Given the description of an element on the screen output the (x, y) to click on. 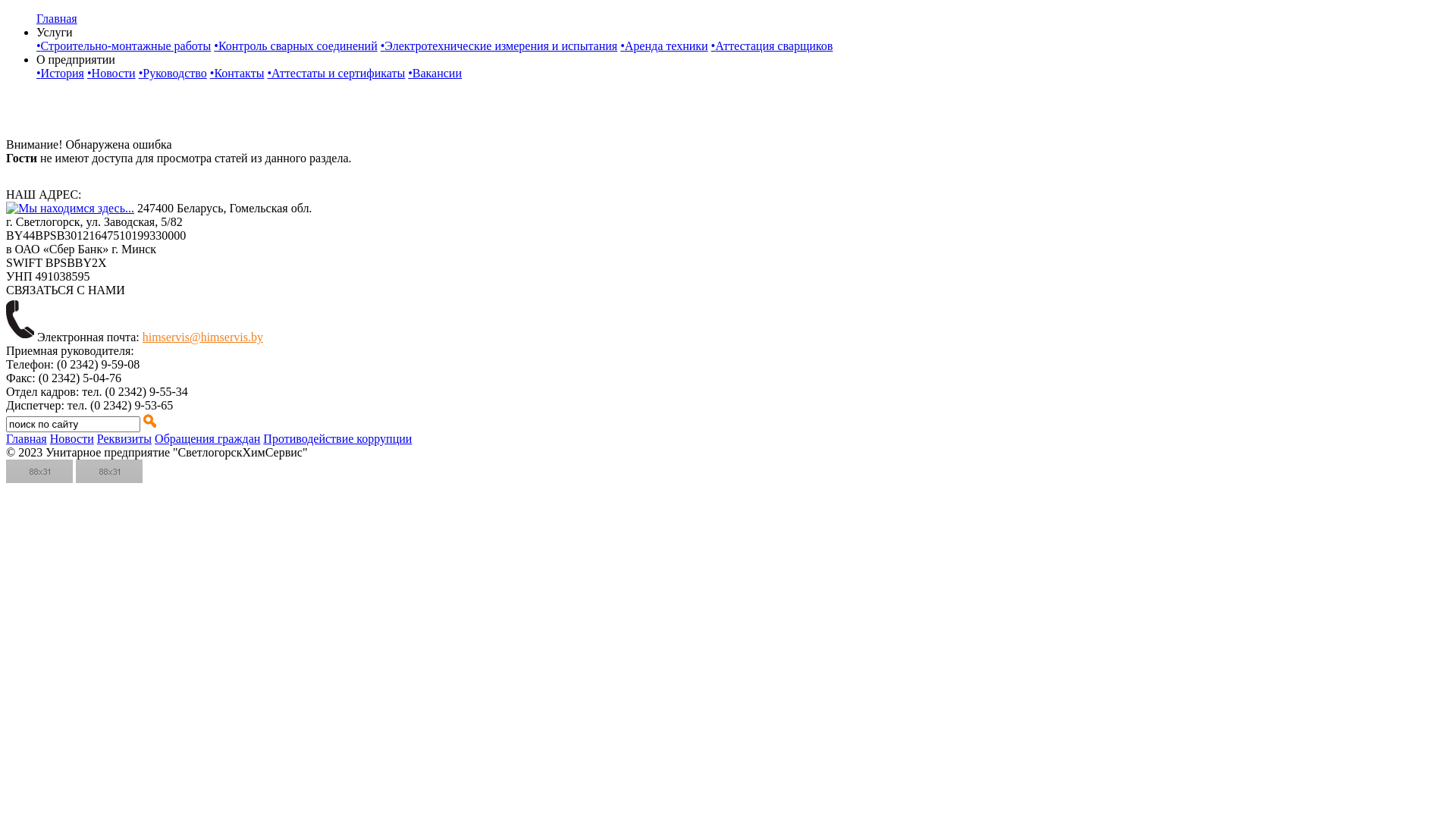
himservis@himservis.by Element type: text (202, 336)
